Given the description of an element on the screen output the (x, y) to click on. 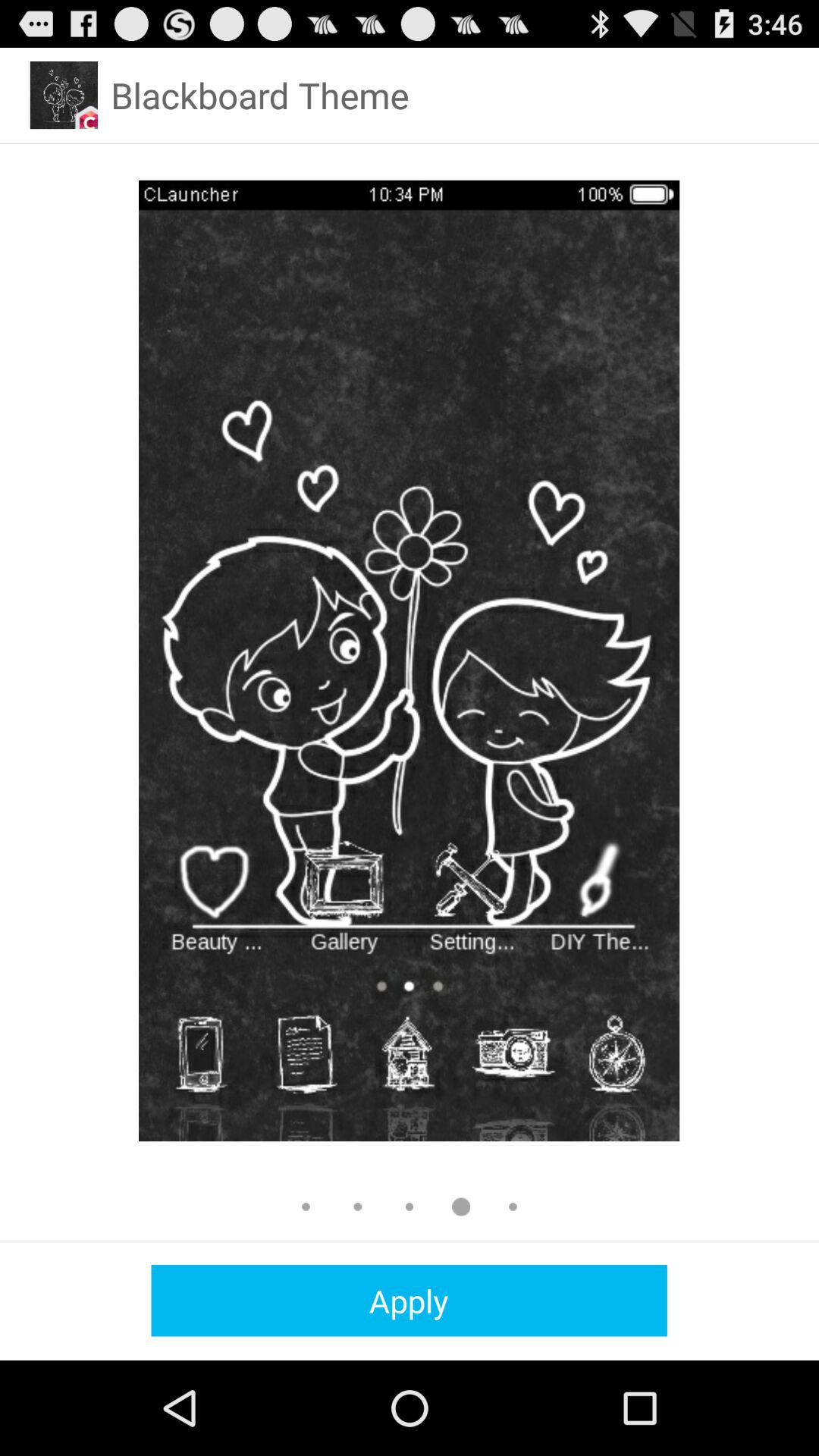
flip to the apply icon (409, 1300)
